Given the description of an element on the screen output the (x, y) to click on. 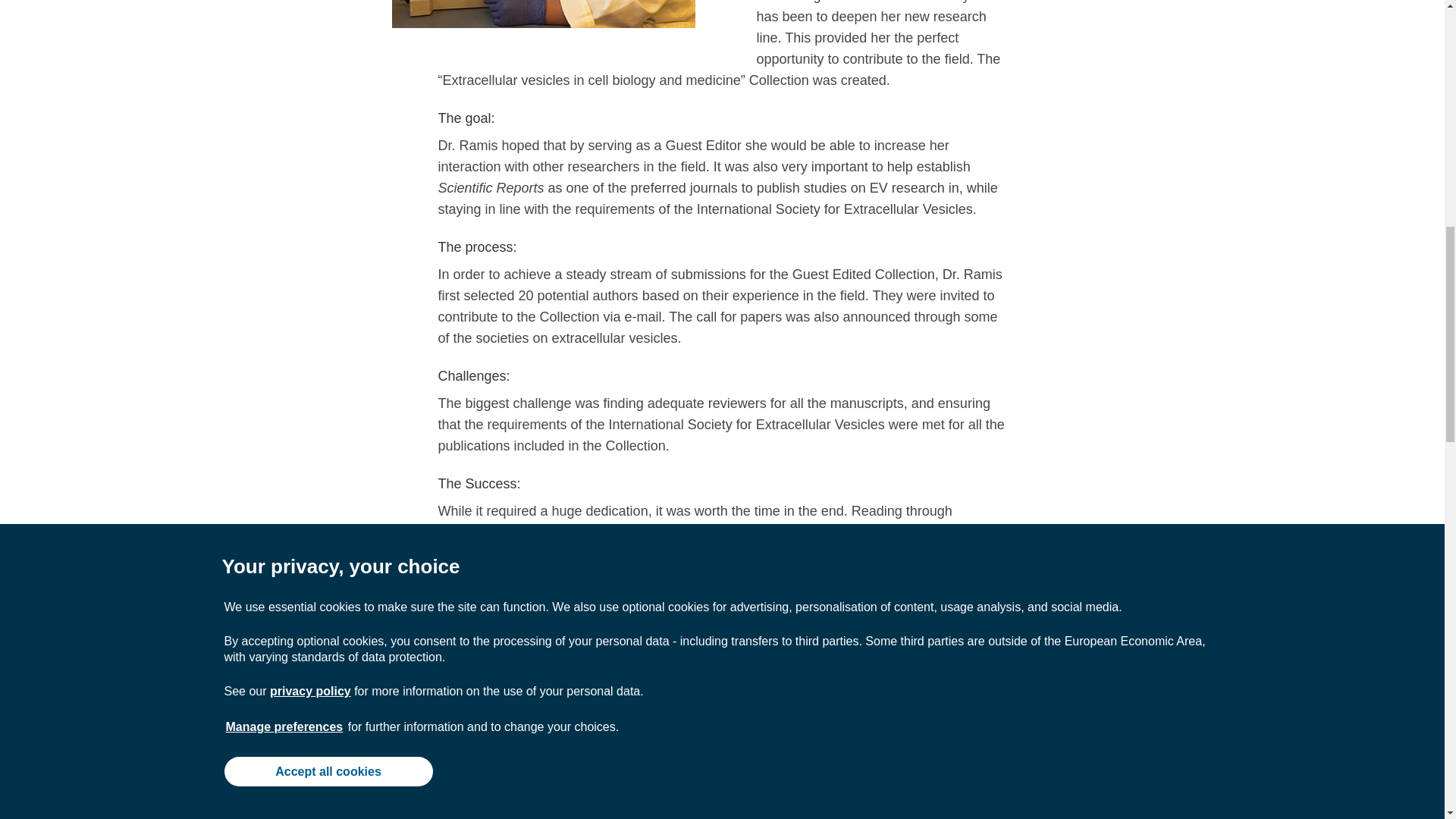
editorial (972, 810)
read on nature.com (633, 810)
